Given the description of an element on the screen output the (x, y) to click on. 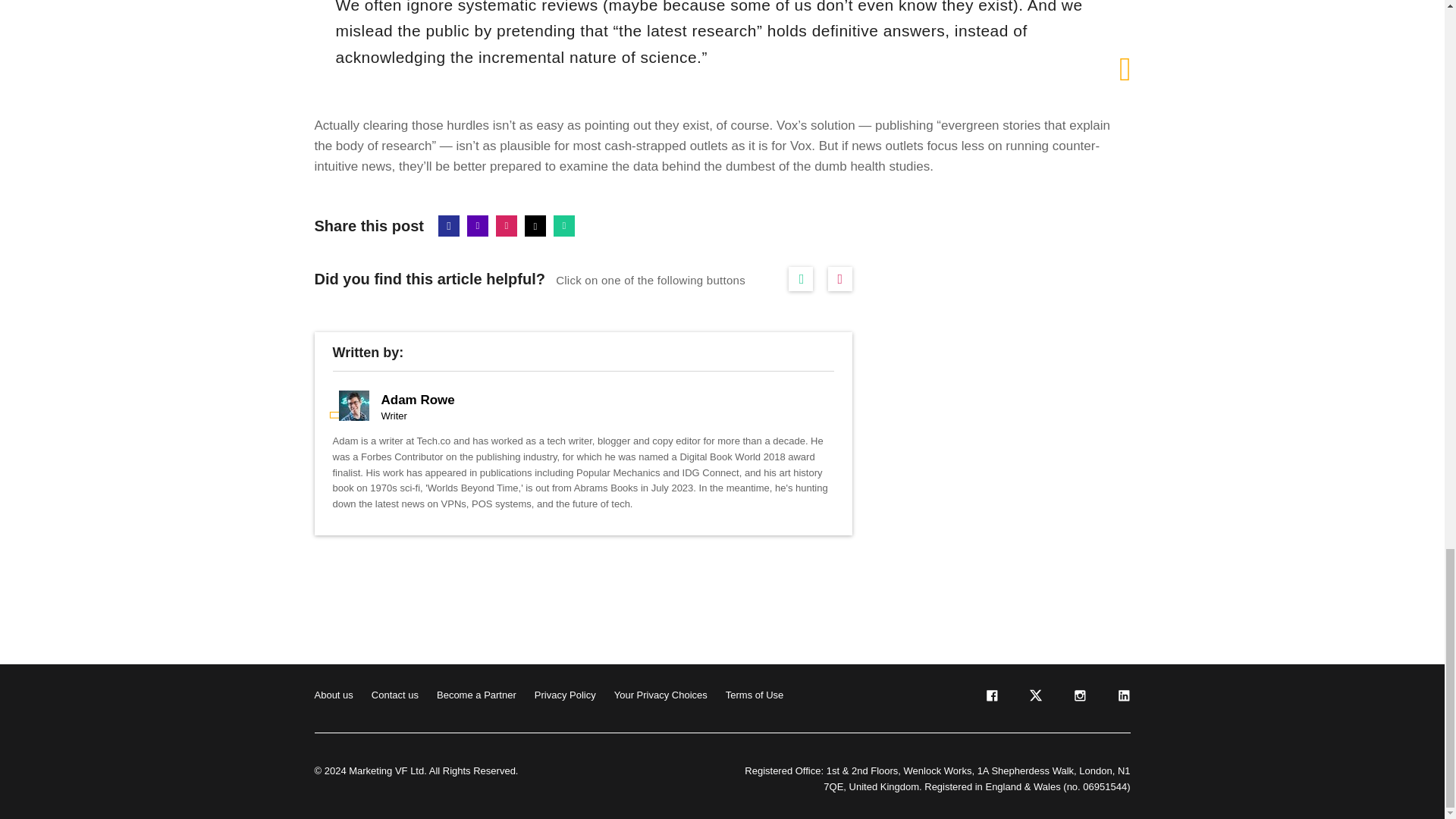
facebook (990, 698)
Flipboard (506, 225)
Twitter-x (535, 225)
Facebook (449, 225)
Linkedin (477, 225)
twitter-x (1034, 698)
instagram (1078, 698)
Whatsapp (564, 225)
linkedin (1122, 698)
